Given the description of an element on the screen output the (x, y) to click on. 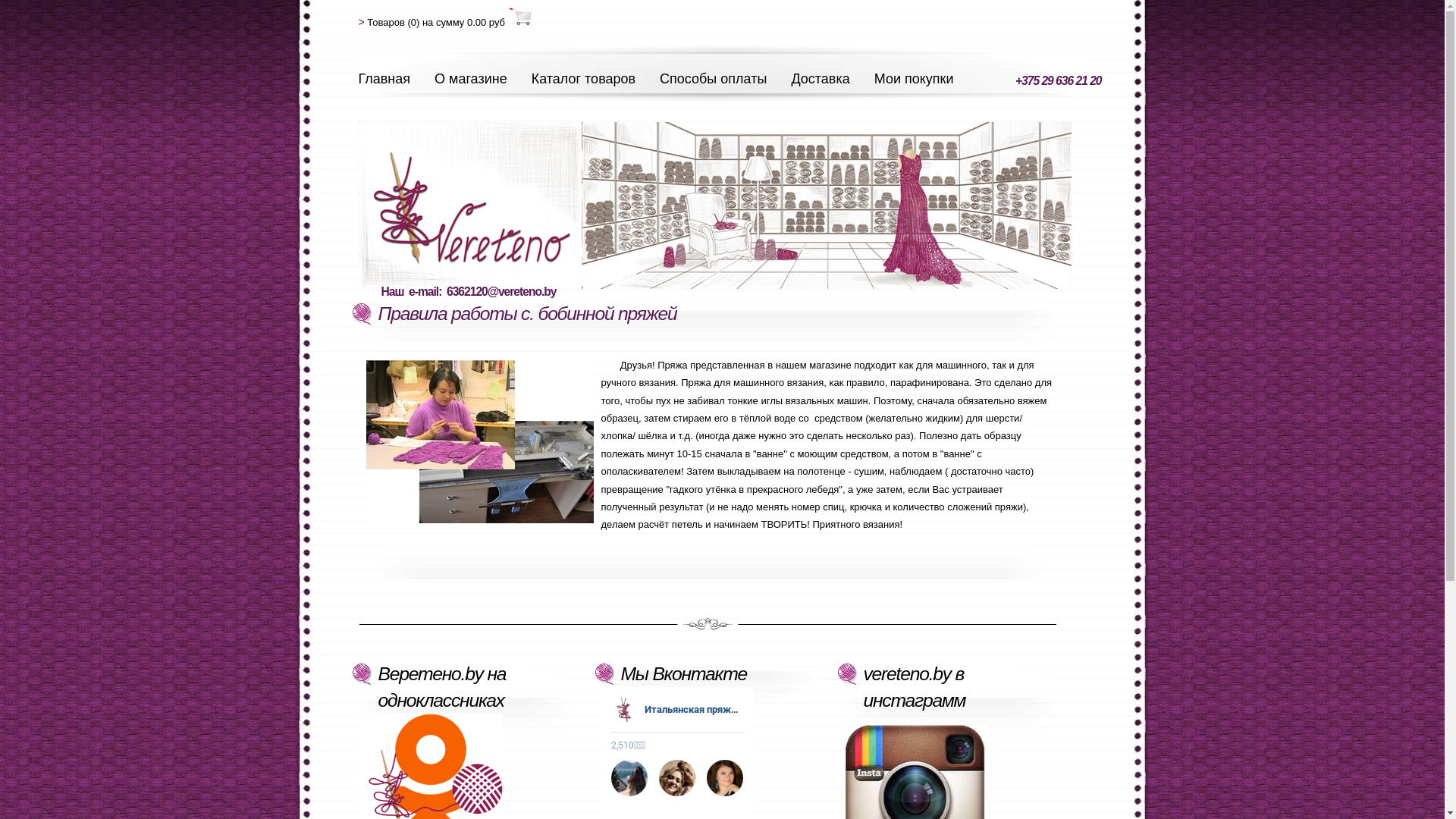
> Element type: text (360, 22)
6362120@vereteno.by Element type: text (500, 291)
